Given the description of an element on the screen output the (x, y) to click on. 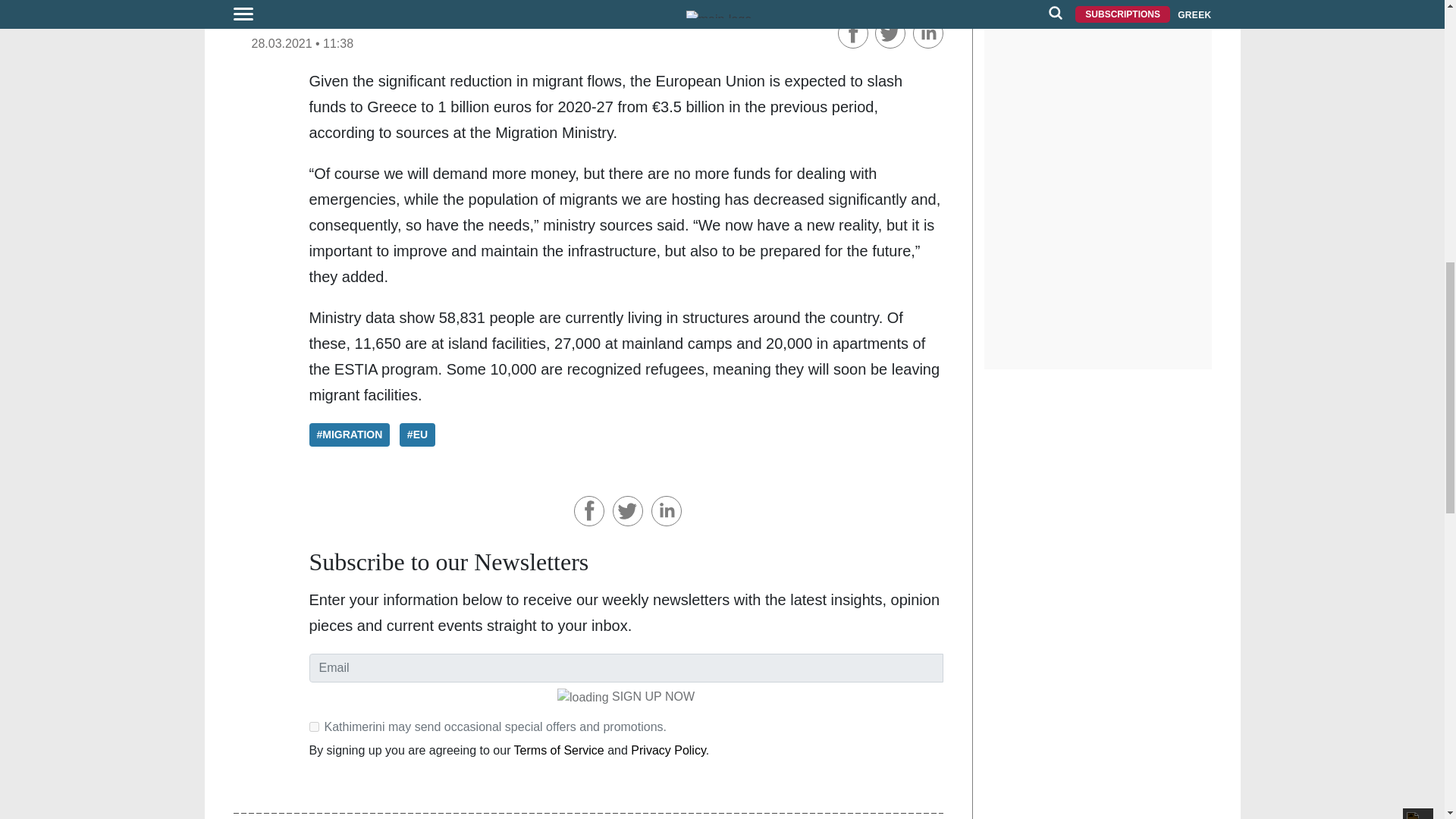
View all posts by Newsroom (287, 22)
on (313, 726)
